Given the description of an element on the screen output the (x, y) to click on. 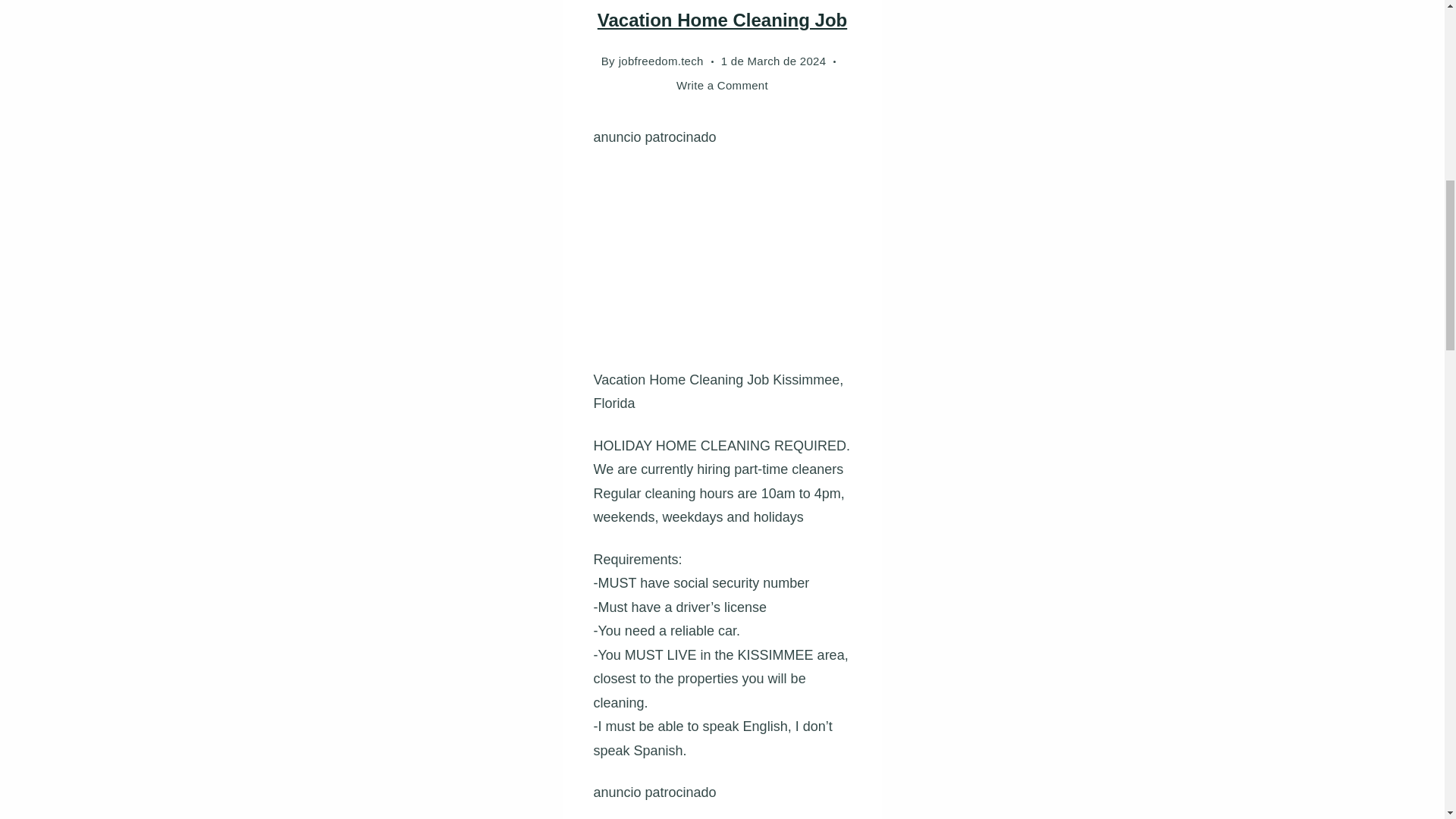
jobfreedom.tech (660, 60)
Advertisement (1017, 812)
